Given the description of an element on the screen output the (x, y) to click on. 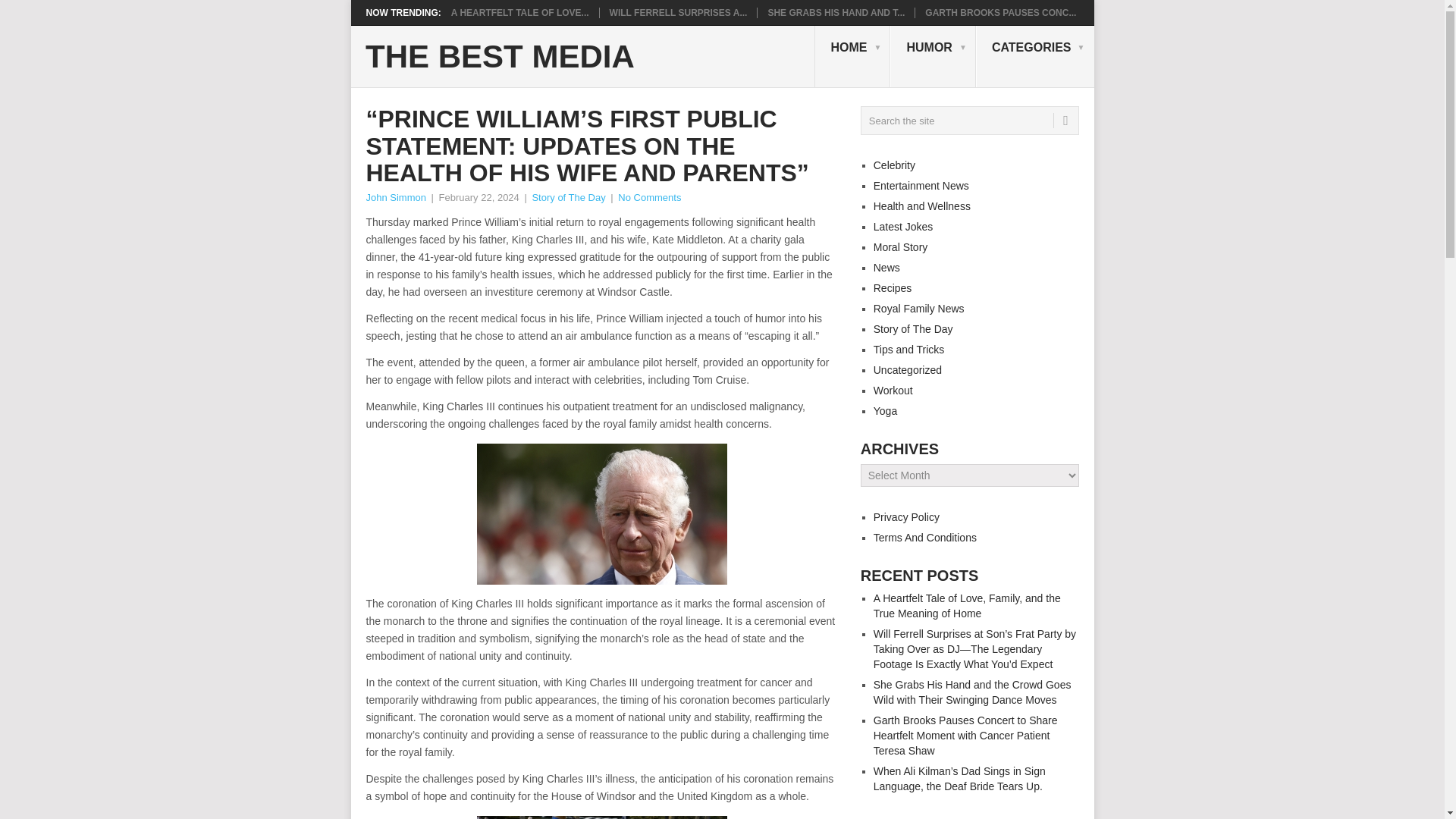
Celebrity (894, 164)
Recipes (892, 287)
A HEARTFELT TALE OF LOVE... (520, 12)
Search the site (969, 120)
Entertainment News (921, 185)
SHE GRABS HIS HAND AND T... (835, 12)
Moral Story (900, 246)
John Simmon (395, 197)
Posts by John Simmon (395, 197)
HUMOR (932, 56)
No Comments (649, 197)
HOME (851, 56)
GARTH BROOKS PAUSES CONC... (999, 12)
News (886, 267)
